Given the description of an element on the screen output the (x, y) to click on. 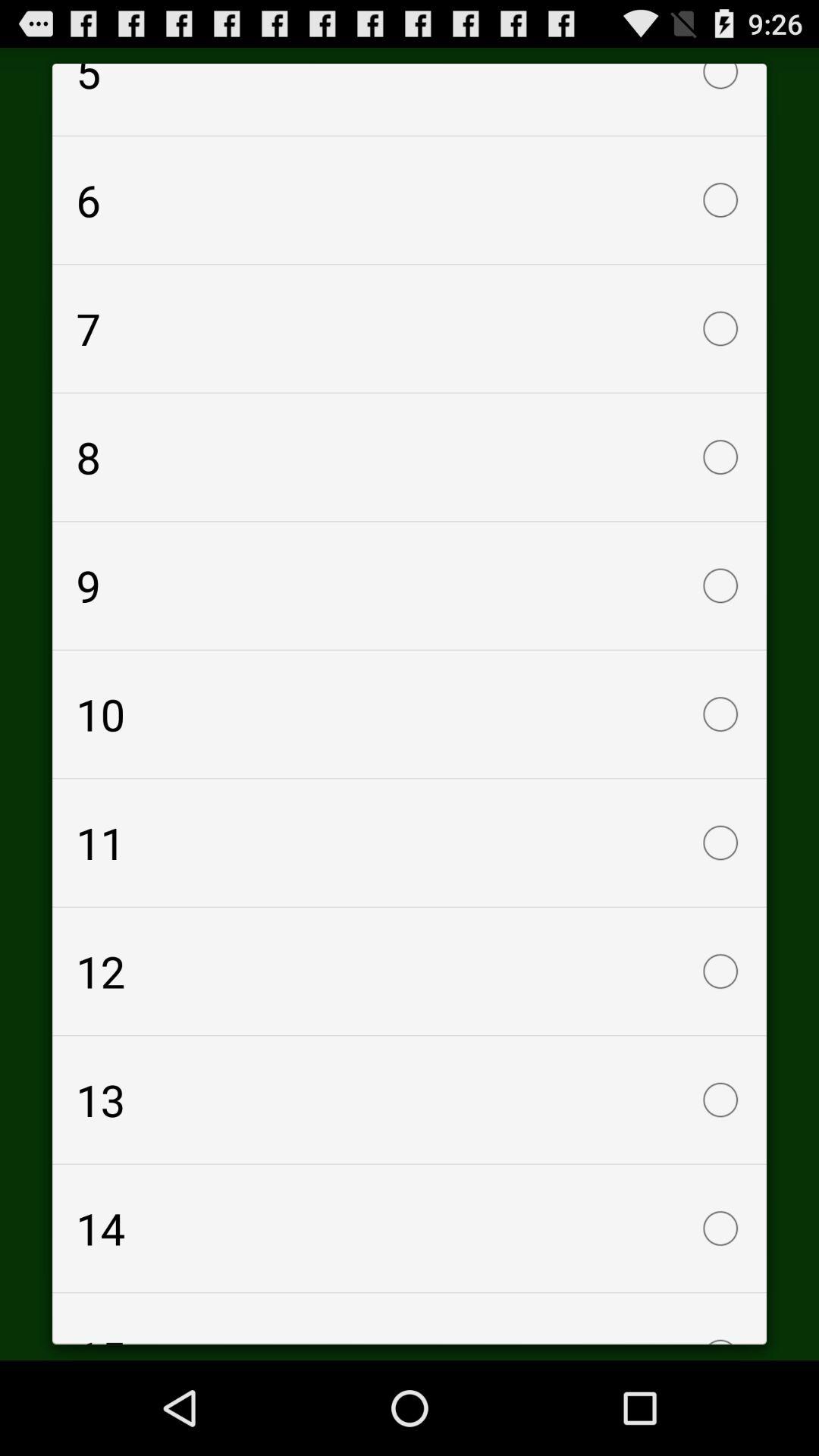
open item above 7 checkbox (409, 199)
